Given the description of an element on the screen output the (x, y) to click on. 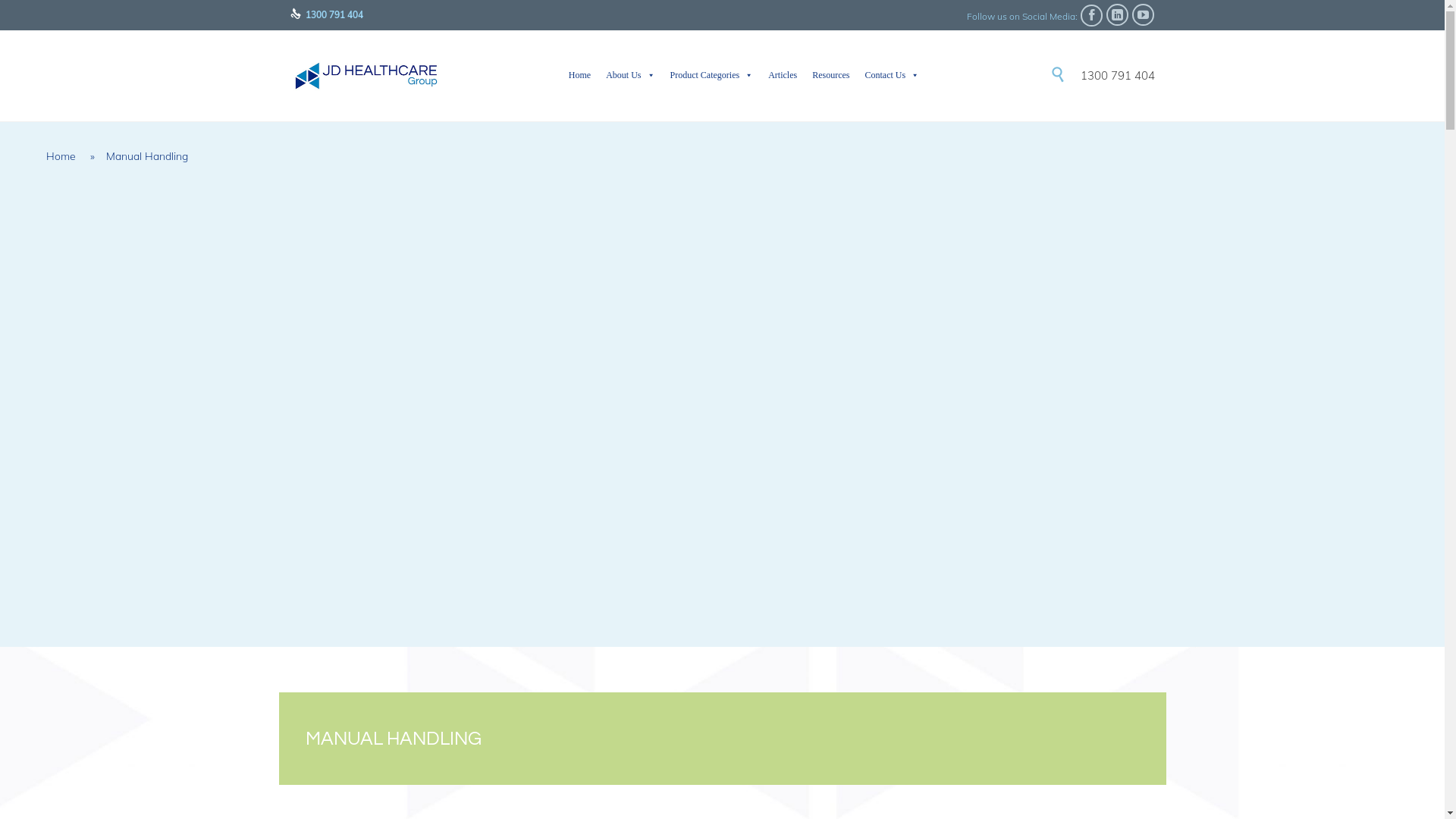
Contact Us Element type: text (891, 74)
Resources Element type: text (830, 74)
Manual Handling Element type: text (146, 156)
About Us Element type: text (630, 74)
Home Element type: text (579, 74)
Skip to content Element type: text (1044, 59)
Articles Element type: text (782, 74)
Product Categories Element type: text (711, 74)
Home Element type: text (60, 156)
JD Healthcare Group Pty Ltd Element type: hover (365, 75)
